Given the description of an element on the screen output the (x, y) to click on. 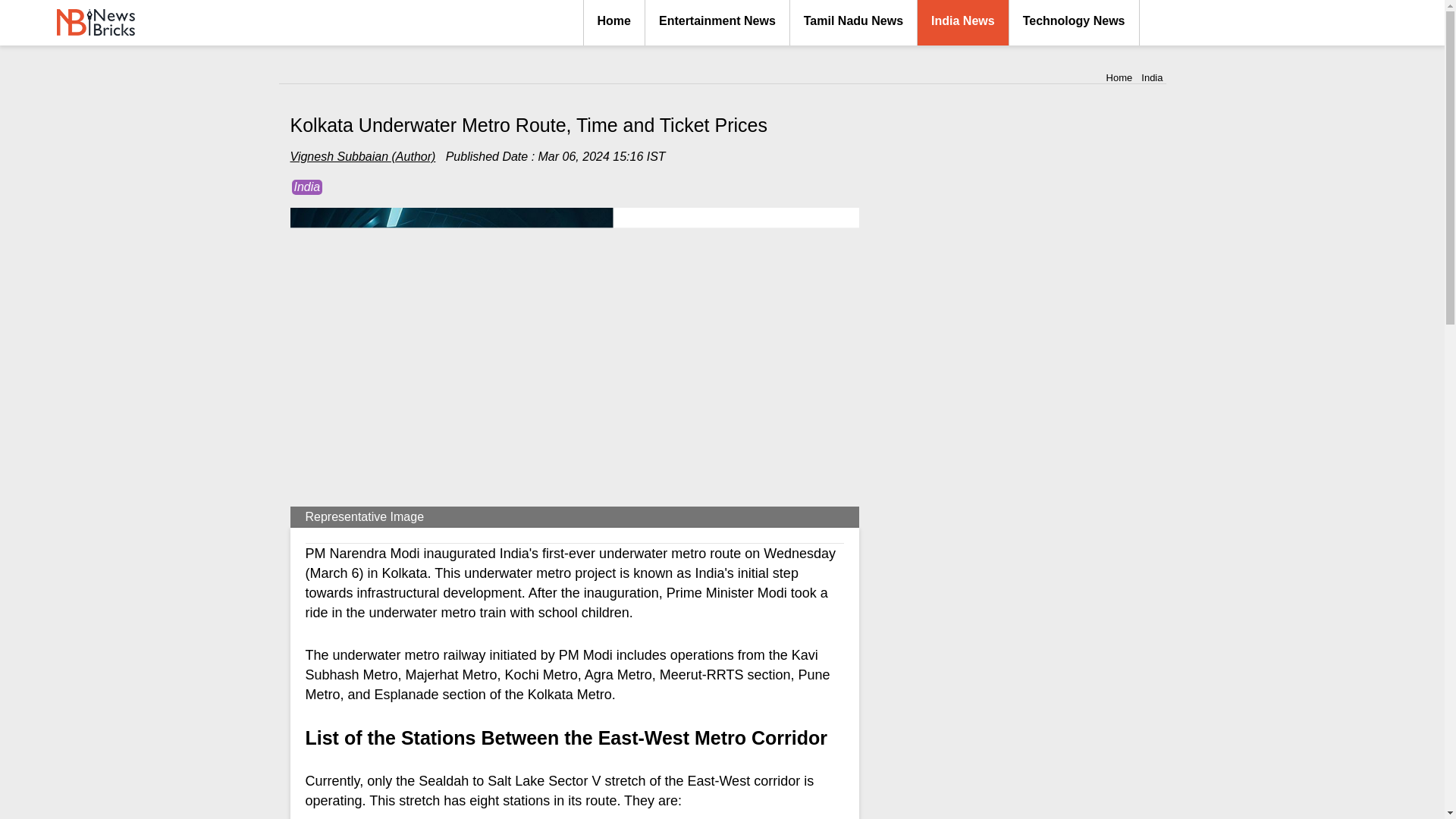
India (306, 186)
India News (963, 22)
Home (614, 22)
Home (1119, 77)
India (1151, 77)
Technology News (1074, 22)
Tamil Nadu News (853, 22)
Entertainment News (717, 22)
